Given the description of an element on the screen output the (x, y) to click on. 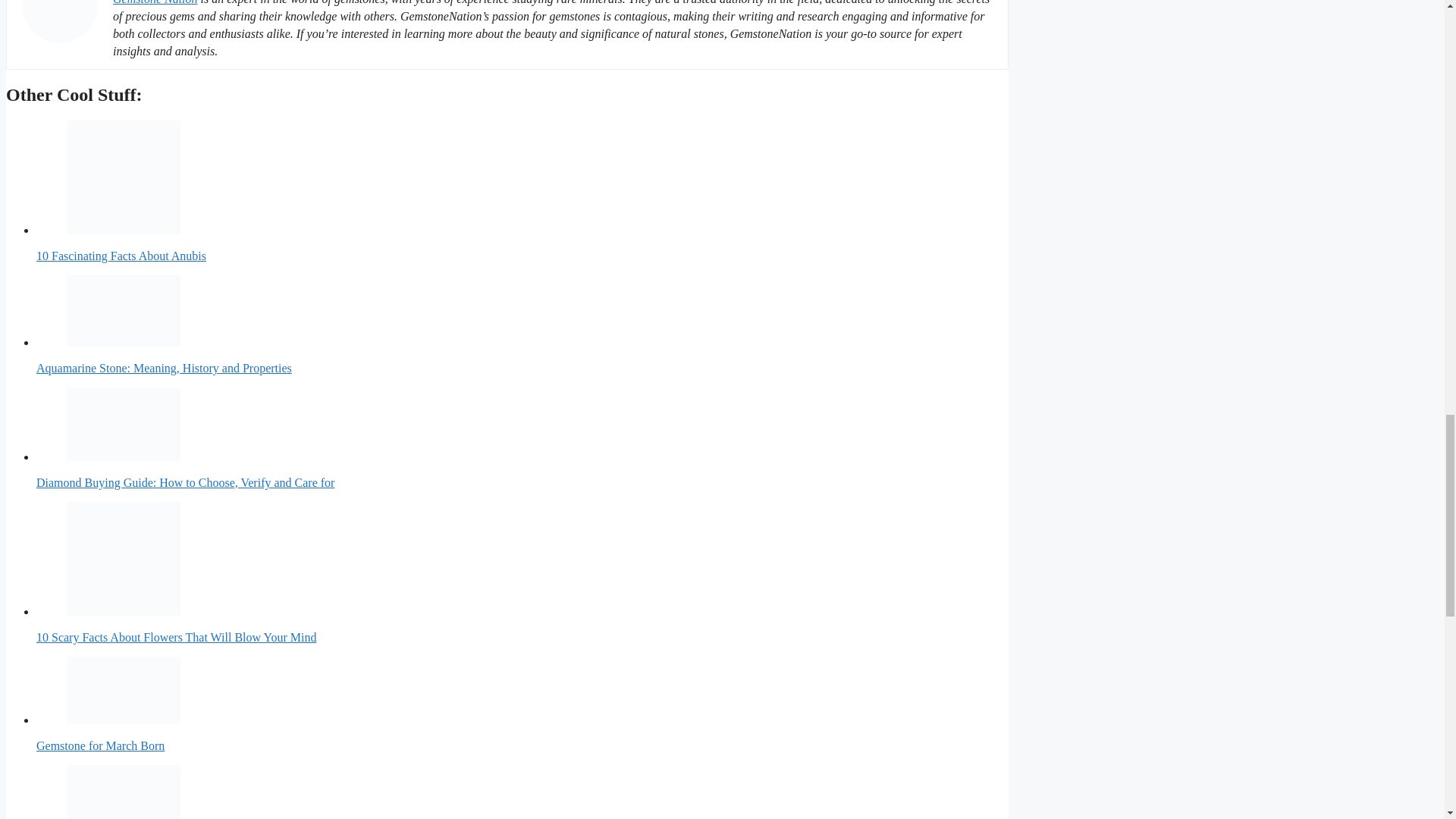
10 Scary Facts About Flowers That Will Blow Your Mind (123, 558)
200 Words of Wisdom for Newlyweds (123, 791)
Gemstone Nation (155, 2)
Gemstone for March Born (123, 689)
Diamond Buying Guide: How to Choose, Verify and Care for (123, 424)
Aquamarine Stone: Meaning, History and Properties (123, 310)
10 Fascinating Facts About Anubis (123, 177)
